Given the description of an element on the screen output the (x, y) to click on. 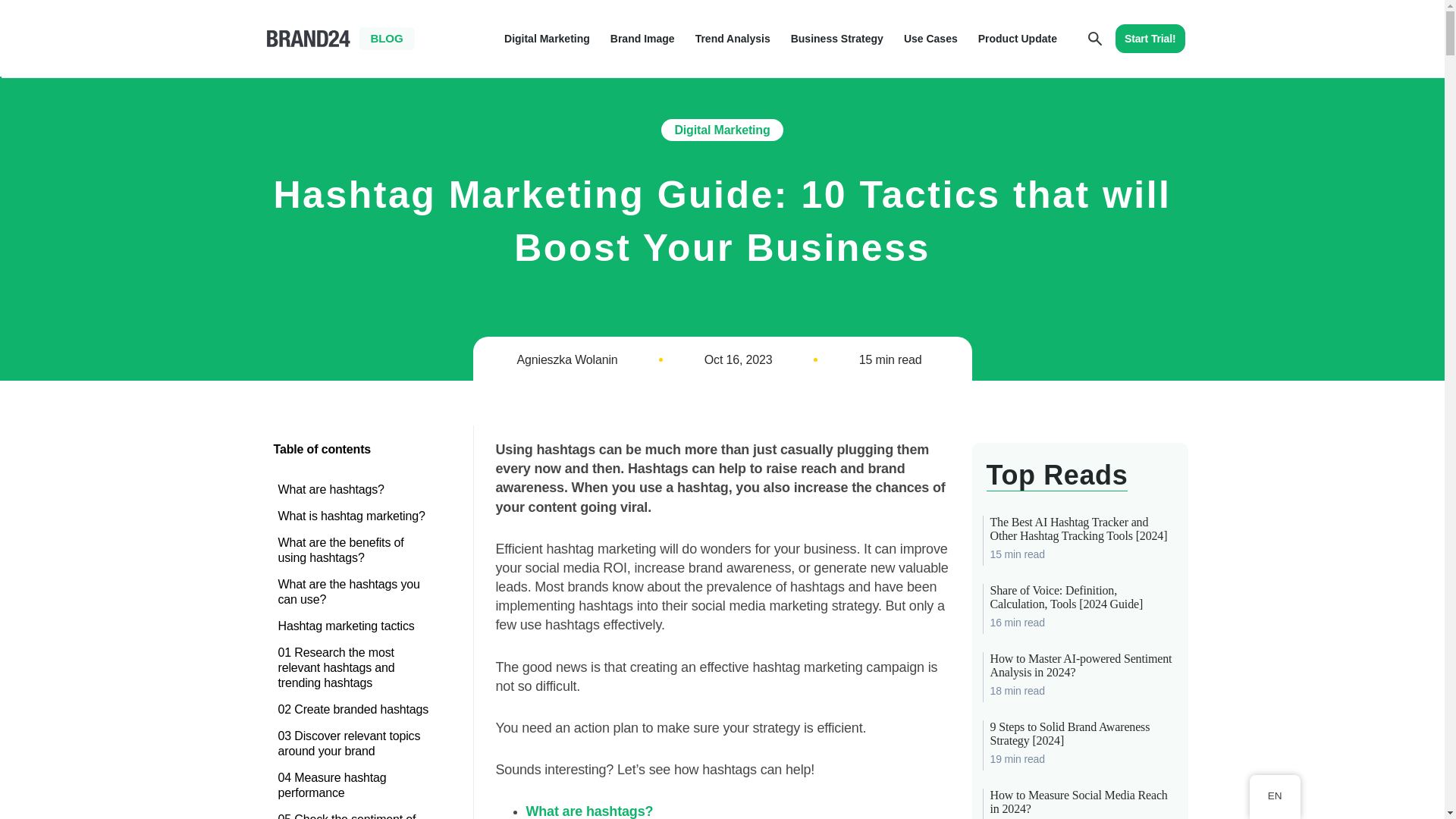
Product Update (1017, 38)
Hashtag marketing tactics (356, 626)
Use Cases (930, 38)
04 Measure hashtag performance (356, 785)
BLOG (386, 38)
03 Discover relevant topics around your brand (356, 743)
Start Trial! (1150, 38)
What are the benefits of using hashtags? (356, 550)
Digital Marketing (722, 129)
What are hashtags? (356, 489)
Trend Analysis (732, 38)
Business Strategy (836, 38)
01 Research the most relevant hashtags and trending hashtags (356, 667)
What are the hashtags you can use? (356, 591)
Brand24 (308, 38)
